Given the description of an element on the screen output the (x, y) to click on. 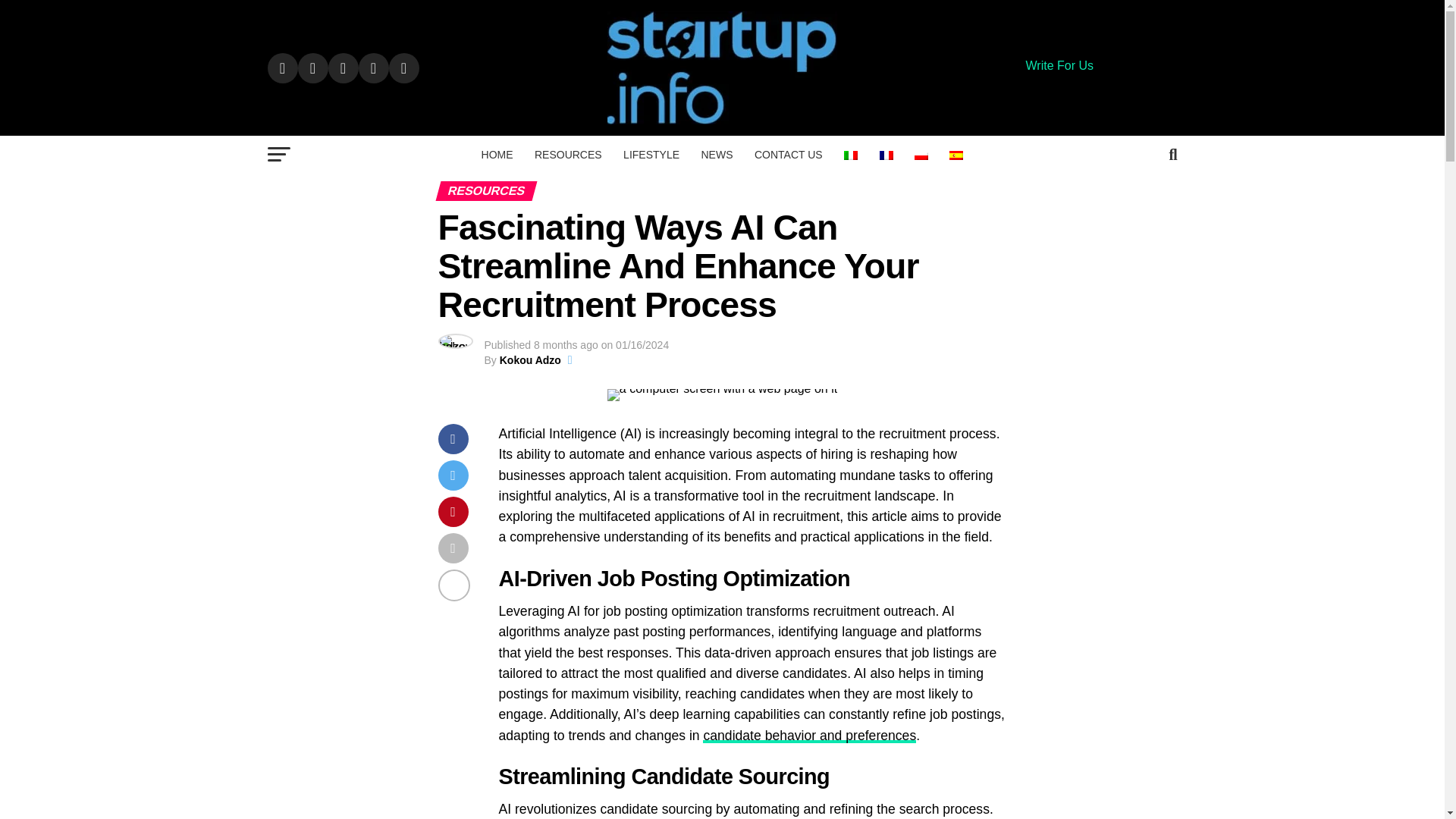
HOME (496, 154)
Write For Us (1059, 65)
LIFESTYLE (651, 154)
NEWS (716, 154)
RESOURCES (568, 154)
